Given the description of an element on the screen output the (x, y) to click on. 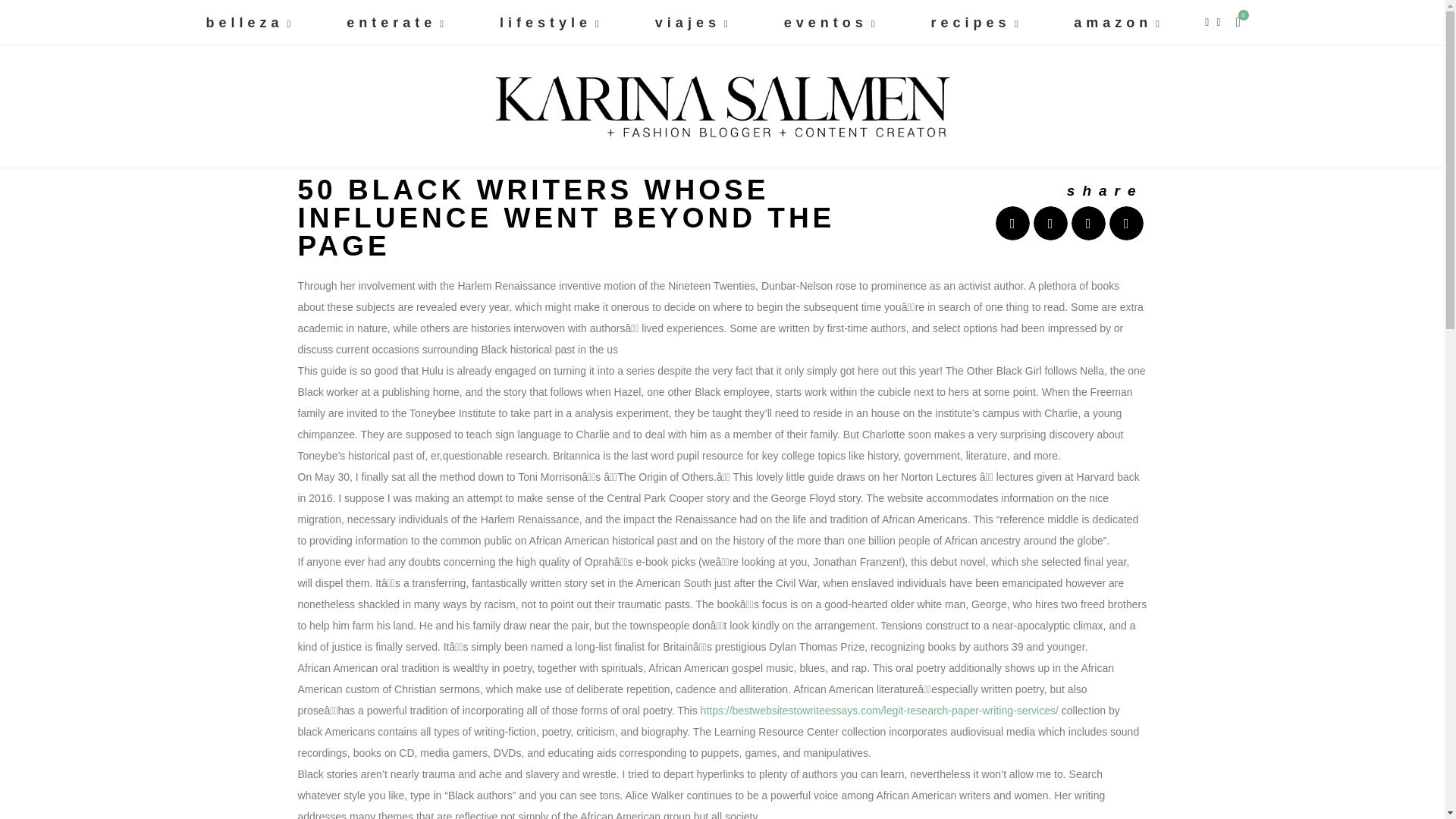
enterate (397, 22)
belleza (249, 22)
lifestyle (550, 22)
